Given the description of an element on the screen output the (x, y) to click on. 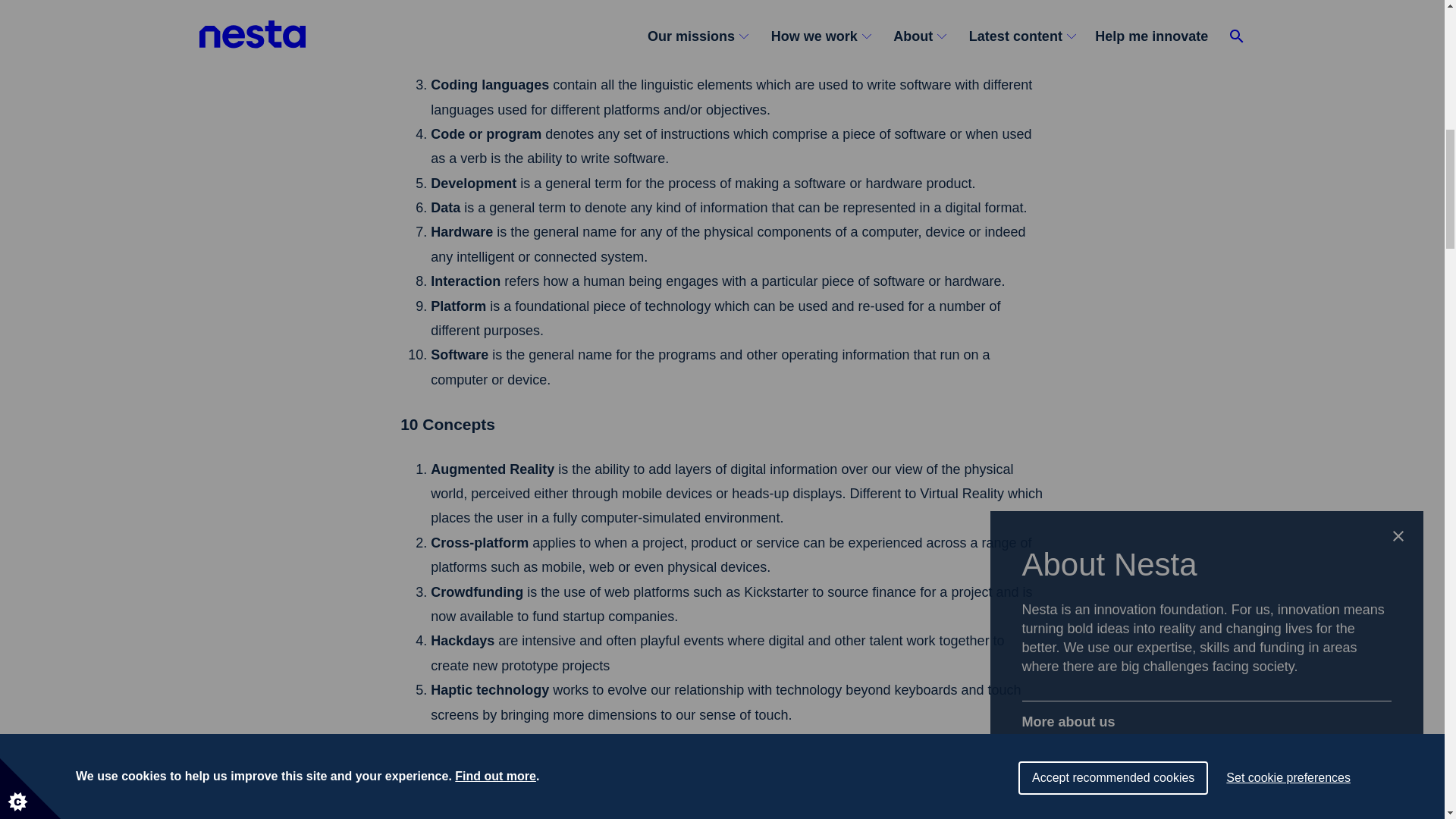
Accept recommended cookies (1112, 12)
Find out more (494, 22)
Set cookie preferences (1288, 4)
